Given the description of an element on the screen output the (x, y) to click on. 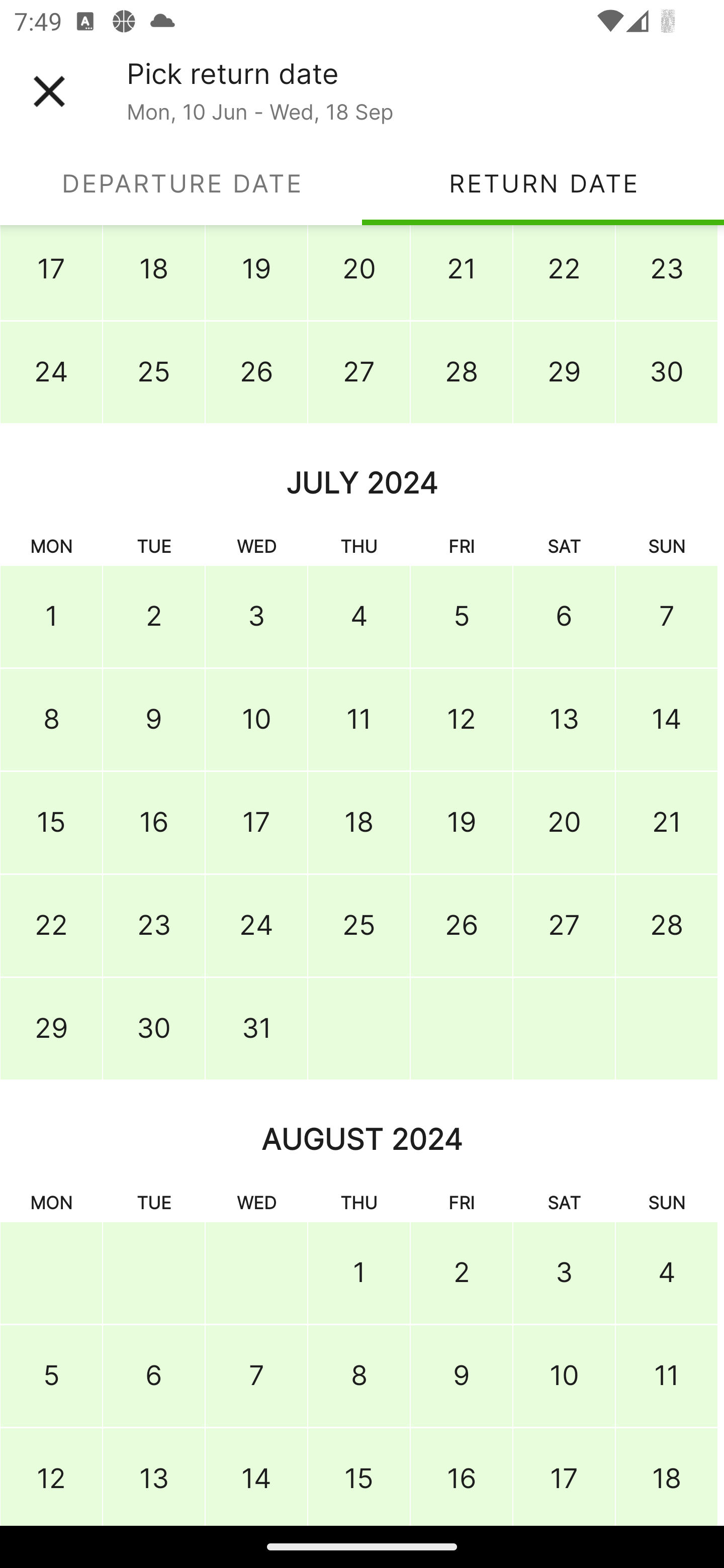
Departure Date DEPARTURE DATE (181, 183)
